Given the description of an element on the screen output the (x, y) to click on. 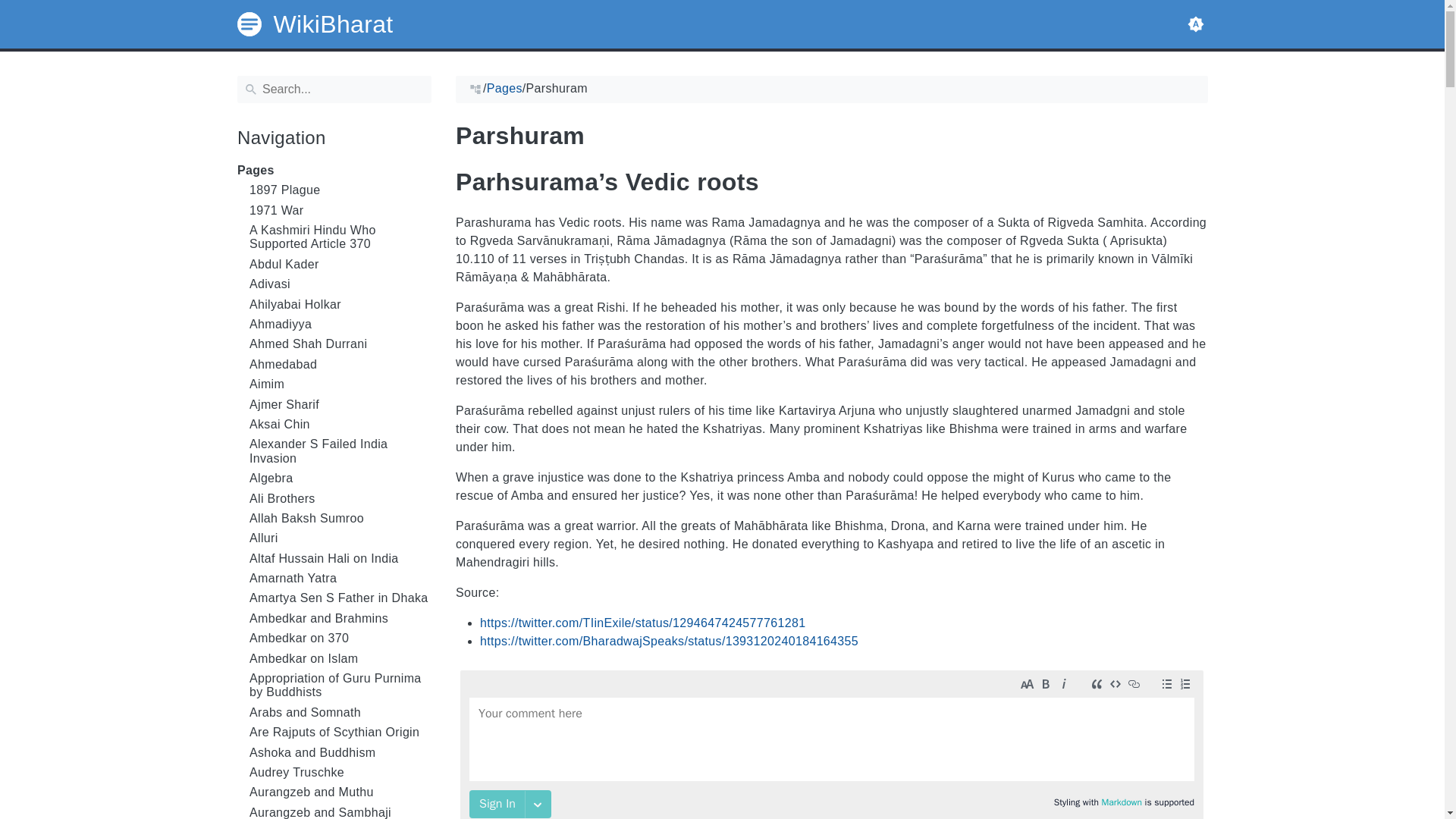
Aksai Chin (339, 424)
Abdul Kader (339, 264)
Audrey Truschke (339, 772)
Arabs and Somnath (339, 712)
Aimim (339, 384)
Adivasi (339, 284)
Ahmed Shah Durrani (339, 344)
Ahmadiyya (339, 324)
Ambedkar on 370 (339, 638)
Appropriation of Guru Purnima by Buddhists (339, 685)
Alexander S Failed India Invasion (339, 451)
1971 War (339, 210)
Ahmedabad (339, 364)
Alluri (339, 538)
Ambedkar and Brahmins (339, 618)
